Given the description of an element on the screen output the (x, y) to click on. 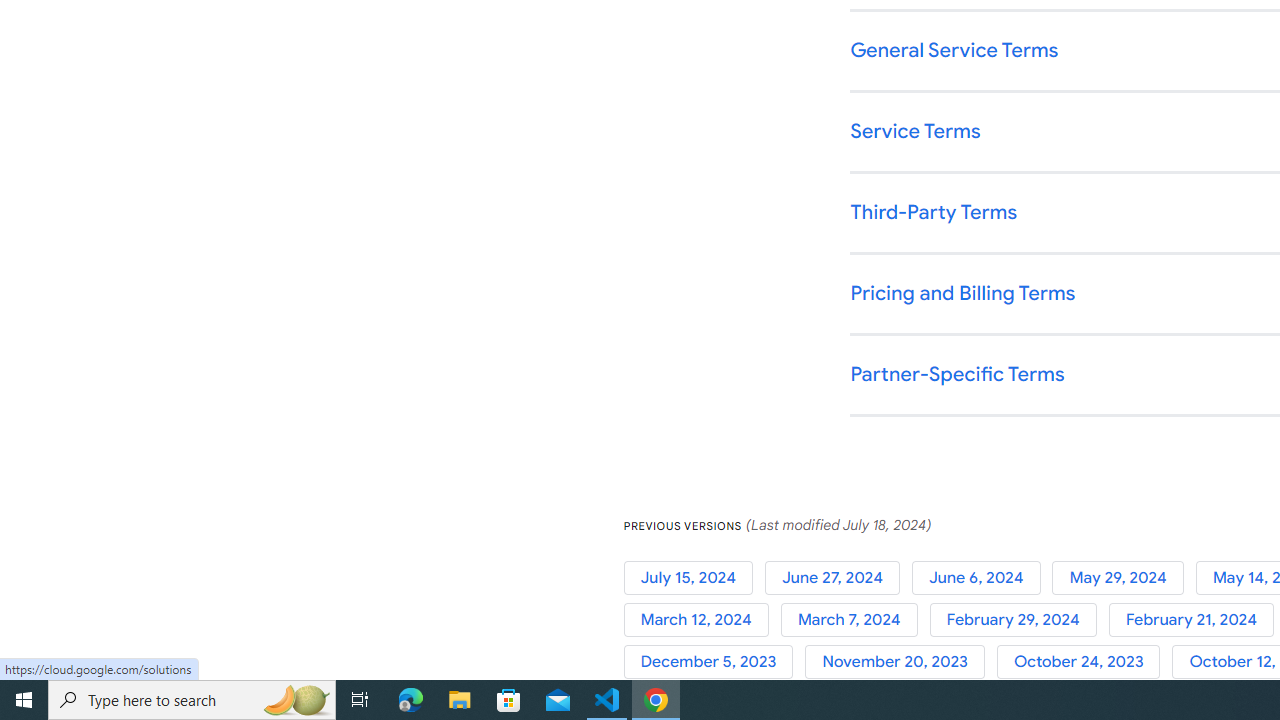
May 29, 2024 (1123, 577)
December 5, 2023 (714, 661)
March 7, 2024 (854, 620)
February 29, 2024 (1018, 620)
June 6, 2024 (982, 577)
November 20, 2023 (901, 661)
October 24, 2023 (1083, 661)
June 27, 2024 (837, 577)
March 12, 2024 (701, 620)
July 15, 2024 (694, 577)
